Given the description of an element on the screen output the (x, y) to click on. 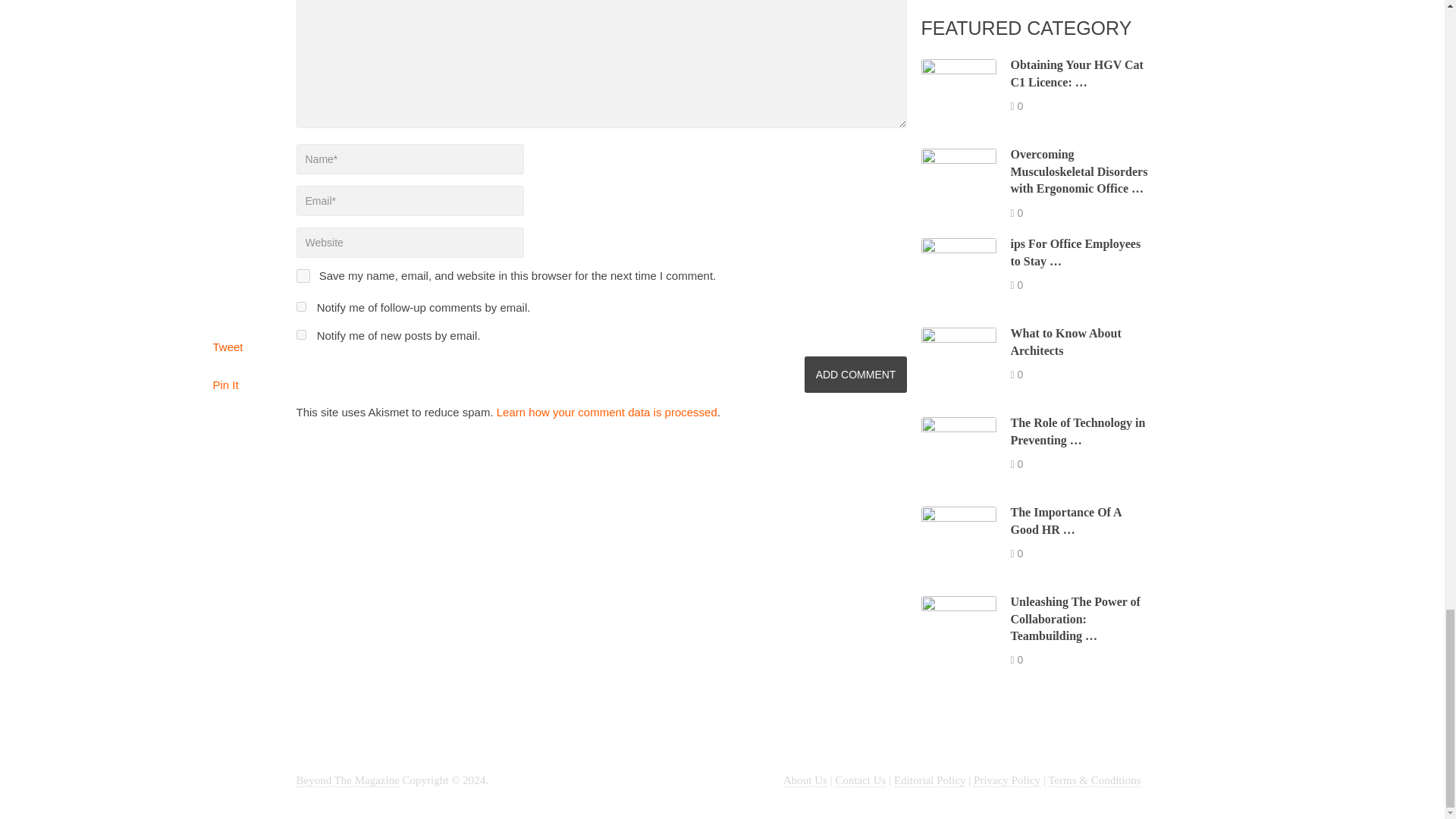
subscribe (300, 334)
yes (301, 275)
Add Comment (856, 374)
subscribe (300, 307)
